Given the description of an element on the screen output the (x, y) to click on. 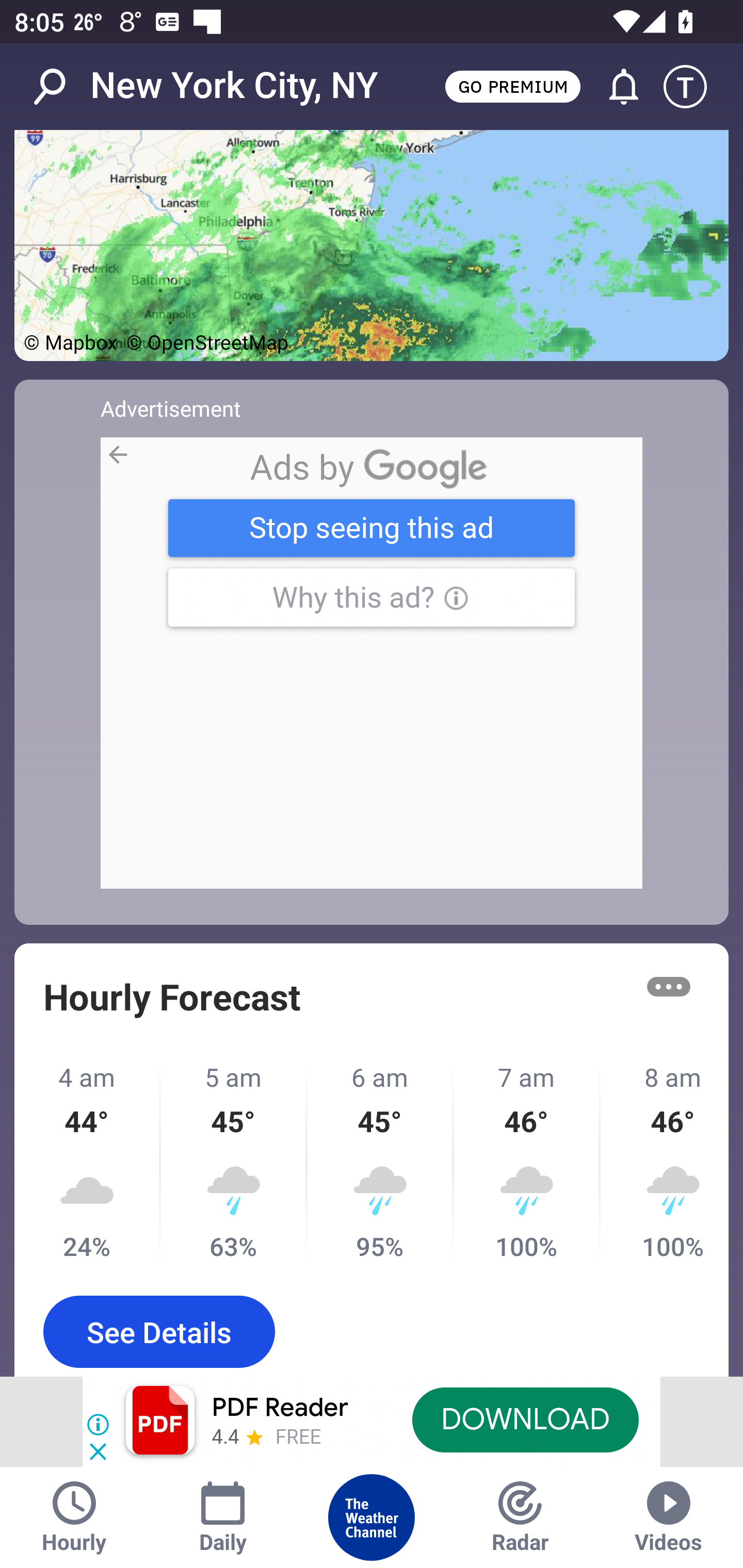
Search (59, 86)
Go to Alerts and Notifications (614, 86)
Setting icon T (694, 86)
New York City, NY (234, 85)
GO PREMIUM (512, 85)
See Map Details (371, 245)
More options (668, 986)
4 am 44° 24% (87, 1161)
5 am 45° 63% (234, 1161)
6 am 45° 95% (380, 1161)
7 am 46° 100% (526, 1161)
8 am 46° 100% (664, 1161)
See Details (158, 1331)
DOWNLOAD (524, 1419)
PDF Reader (279, 1407)
Hourly Tab Hourly (74, 1517)
Daily Tab Daily (222, 1517)
Radar Tab Radar (519, 1517)
Videos Tab Videos (668, 1517)
